Given the description of an element on the screen output the (x, y) to click on. 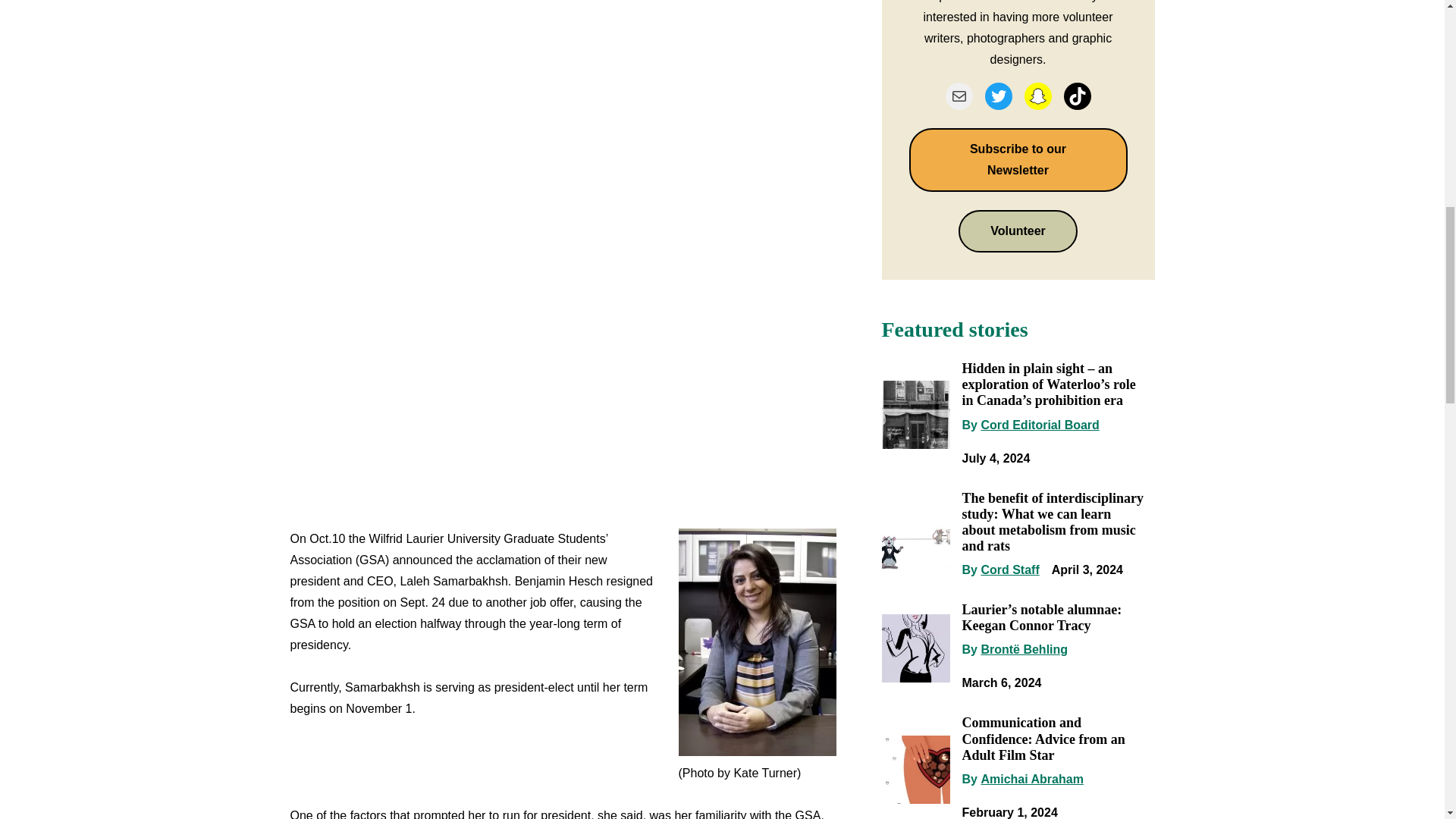
Twitter (997, 95)
Posts by Cord Editorial Board (1039, 424)
Mail (958, 95)
Posts by Amichai Abraham (1031, 779)
Posts by Cord Staff (1009, 569)
